Given the description of an element on the screen output the (x, y) to click on. 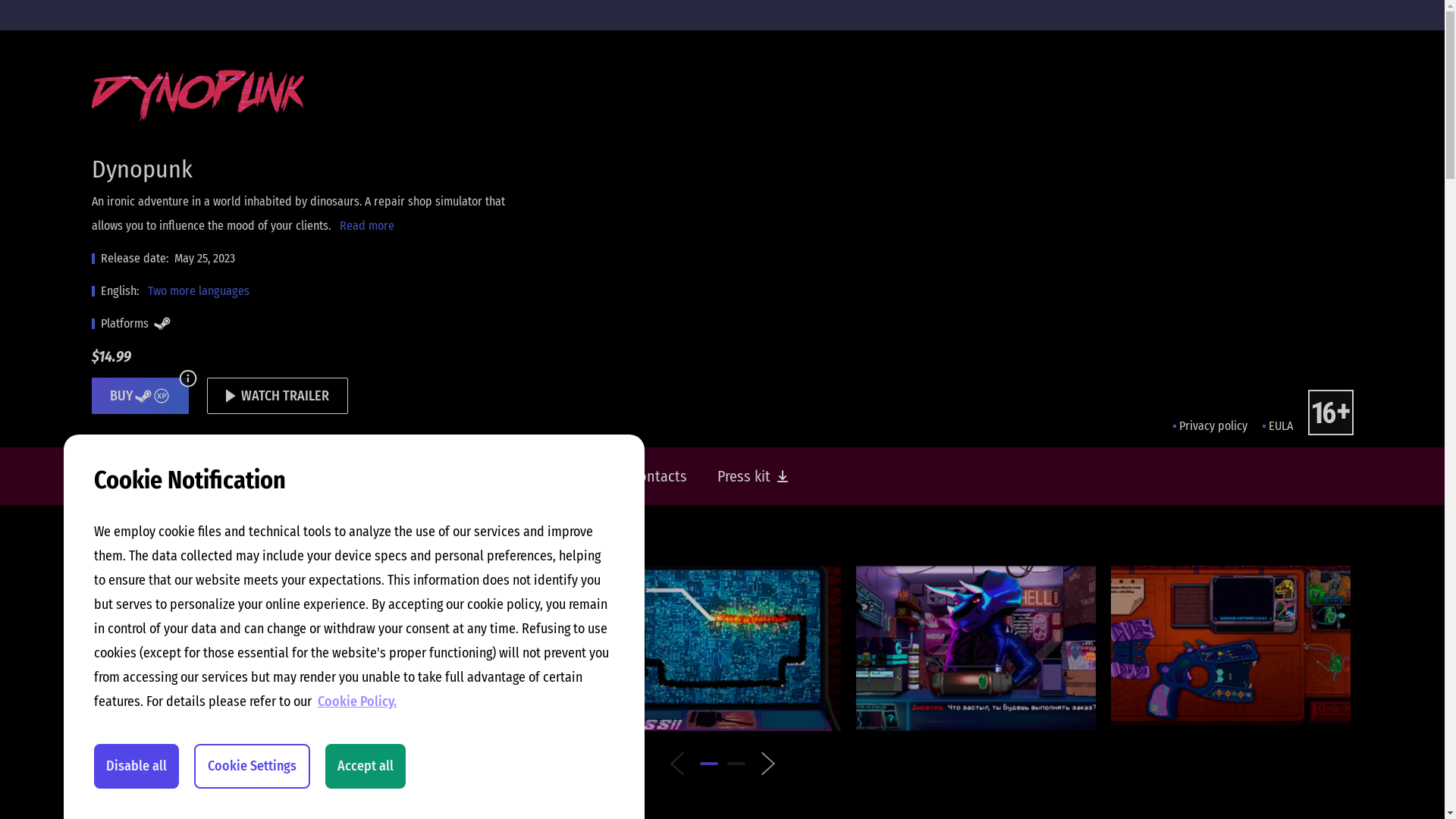
Privacy policy Element type: text (1209, 426)
WATCH TRAILER Element type: text (276, 395)
Cookie Policy. Element type: text (356, 701)
Two more languages Element type: text (197, 291)
EULA Element type: text (1276, 426)
Press kit Element type: text (752, 475)
Read more Element type: text (366, 225)
BUY Element type: text (139, 395)
